Given the description of an element on the screen output the (x, y) to click on. 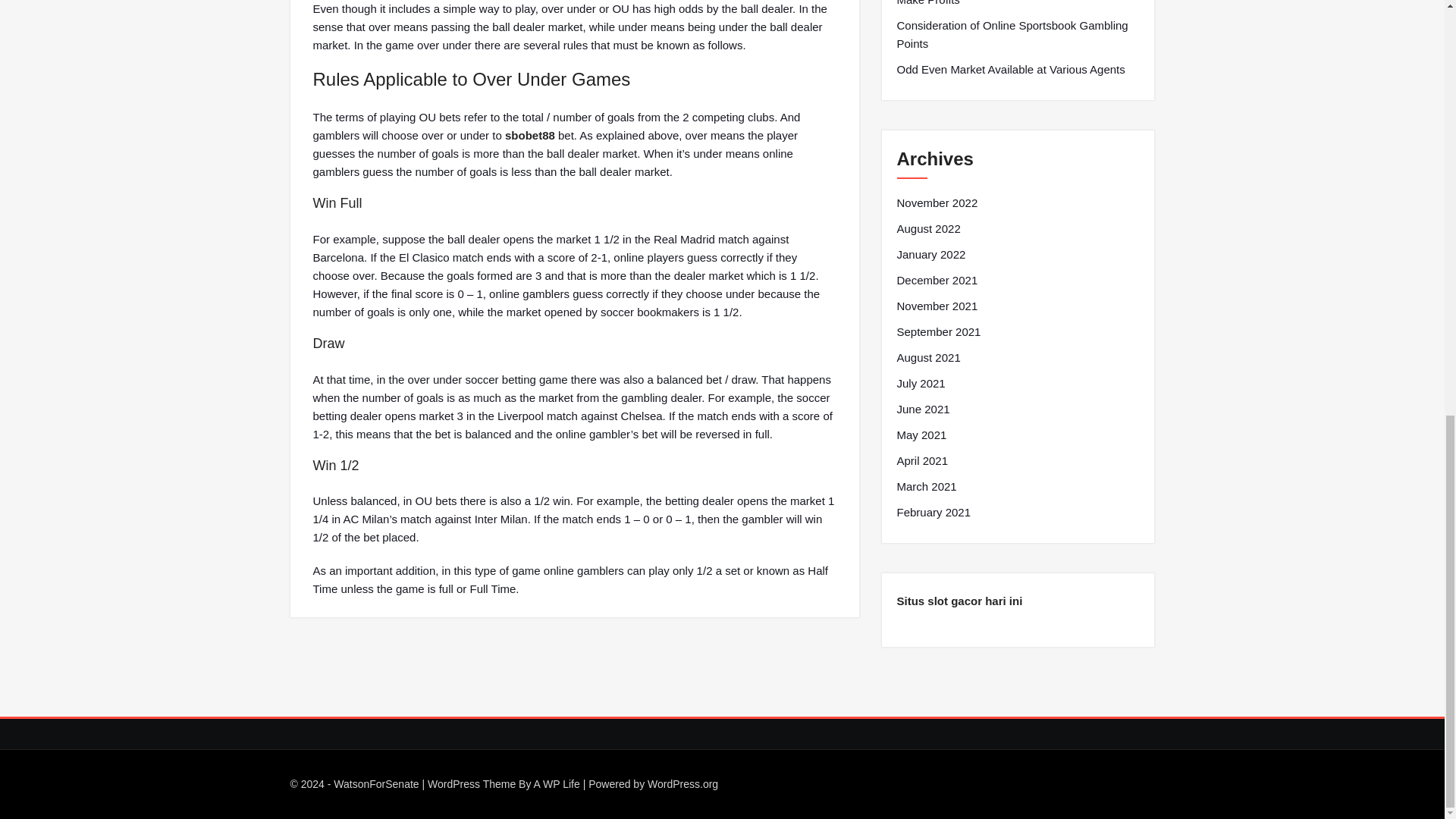
Consideration of Online Sportsbook Gambling Points (1017, 34)
August 2022 (927, 229)
Odd Even Market Available at Various Agents (1010, 69)
Selection of the Best Poker Gambling Tricks Make Profits (1017, 4)
May 2021 (921, 434)
June 2021 (922, 409)
August 2021 (927, 357)
November 2022 (936, 203)
sbobet88 (529, 134)
December 2021 (936, 280)
July 2021 (920, 383)
September 2021 (937, 331)
January 2022 (930, 254)
April 2021 (921, 461)
November 2021 (936, 306)
